Given the description of an element on the screen output the (x, y) to click on. 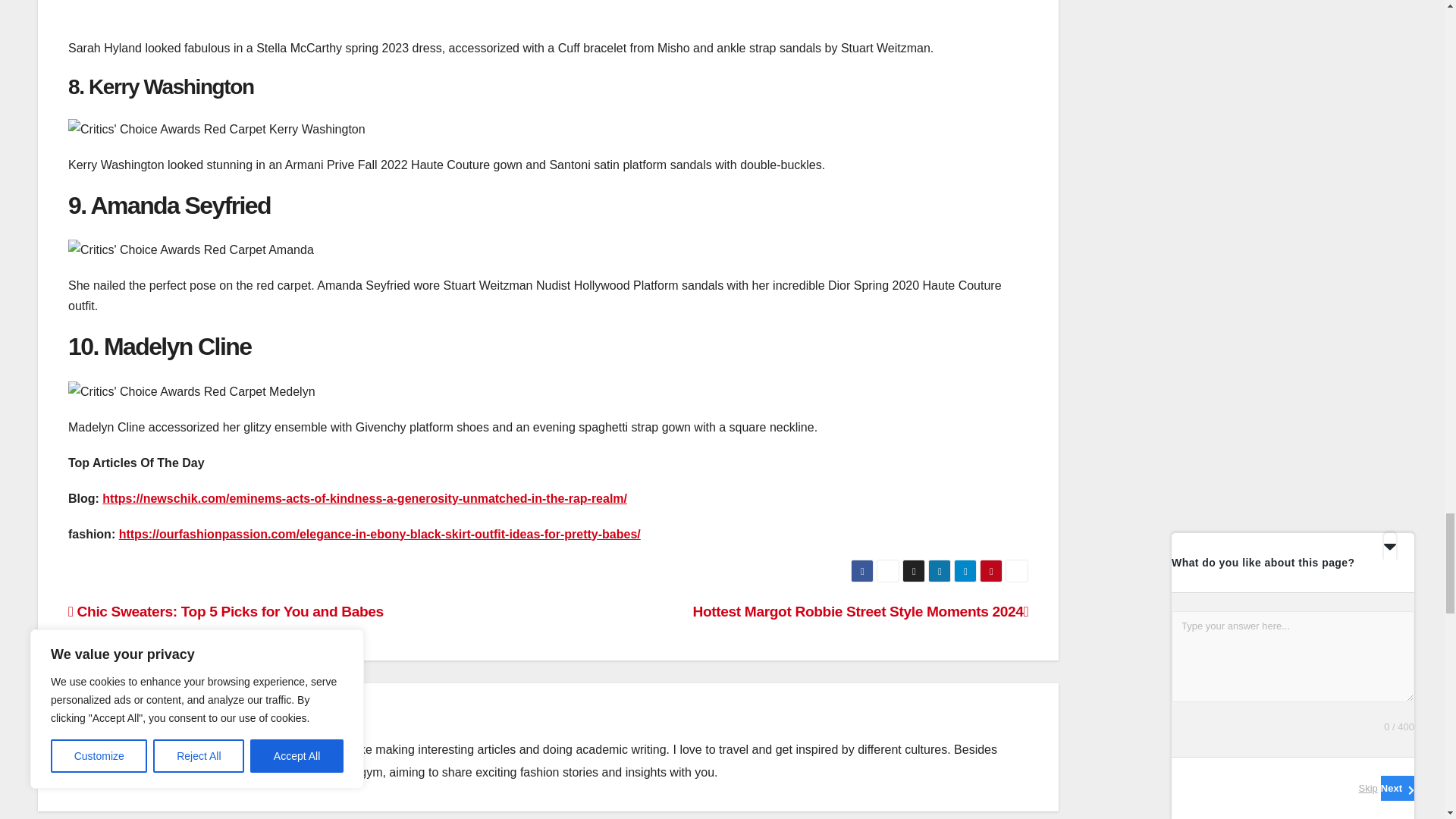
Hottest Margot Robbie Street Style Moments 2024 (860, 611)
Chic Sweaters: Top 5 Picks for You and Babes (226, 611)
